Given the description of an element on the screen output the (x, y) to click on. 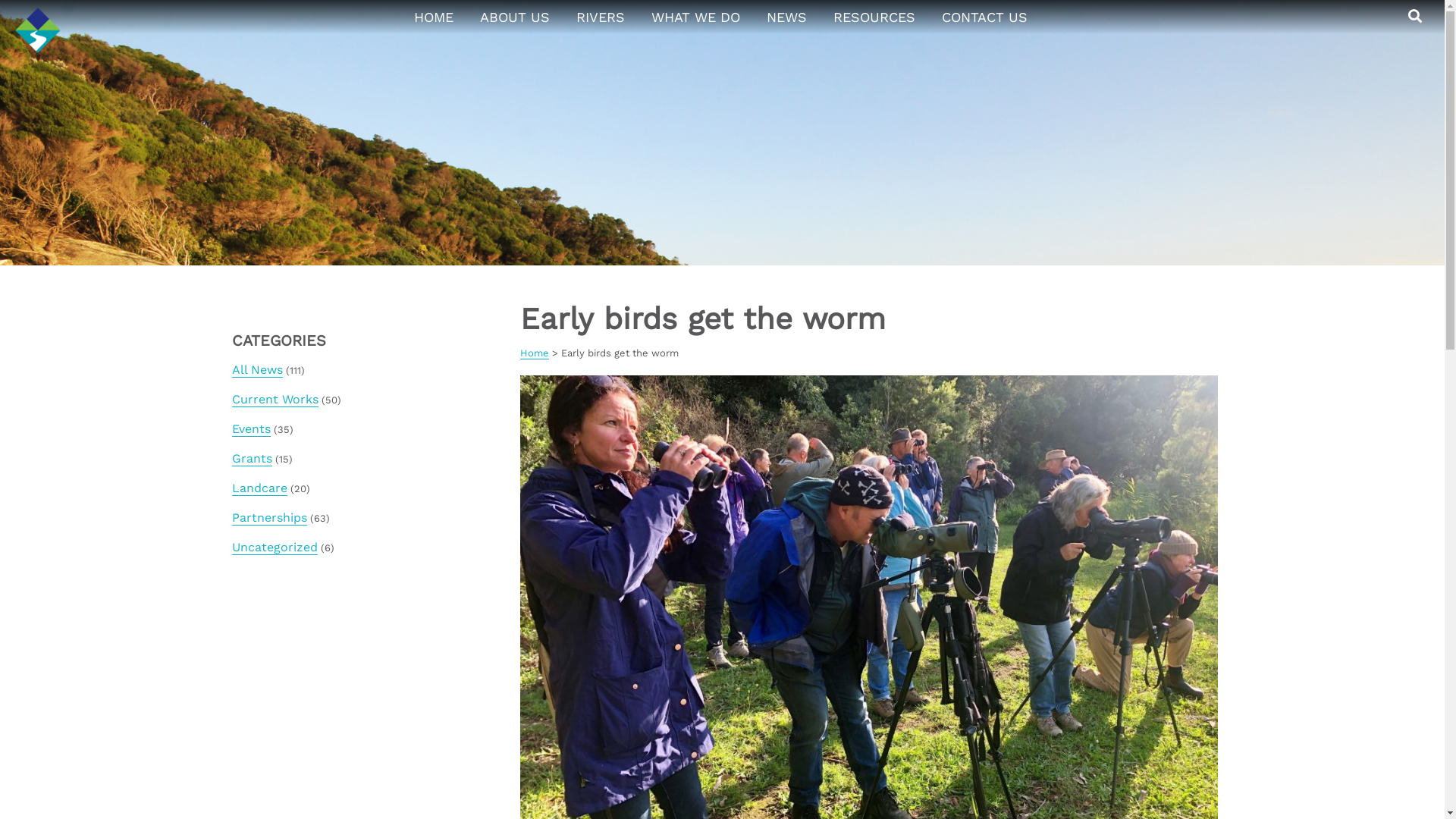
Events Element type: text (251, 428)
Landcare Element type: text (259, 487)
CONTACT US Element type: text (984, 17)
Home Element type: text (534, 353)
RESOURCES Element type: text (873, 17)
RIVERS Element type: text (600, 17)
Partnerships Element type: text (269, 517)
WHAT WE DO Element type: text (694, 17)
Uncategorized Element type: text (274, 547)
NEWS Element type: text (785, 17)
ABOUT US Element type: text (514, 17)
Grants Element type: text (252, 458)
Current Works Element type: text (275, 399)
All News Element type: text (257, 369)
HOME Element type: text (433, 17)
